Given the description of an element on the screen output the (x, y) to click on. 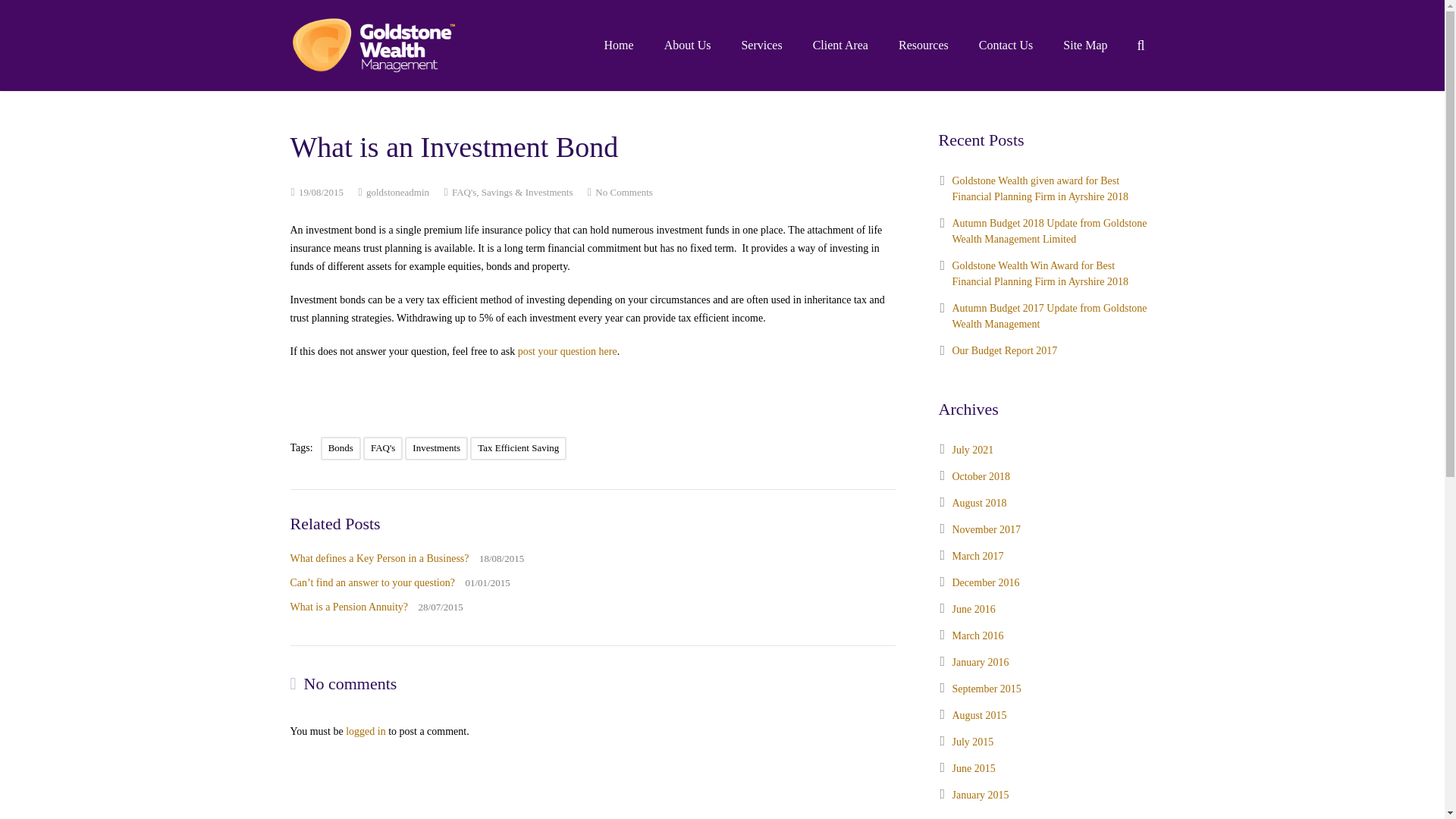
FAQ's (463, 192)
Investments (435, 448)
FAQ's (382, 448)
Client Area (840, 45)
Bonds (340, 448)
post your question here (567, 351)
Contact Us (623, 192)
Tax Efficient Saving (1005, 45)
Search (518, 448)
What defines a Key Person in a Business? (50, 15)
goldstoneadmin (378, 558)
